Given the description of an element on the screen output the (x, y) to click on. 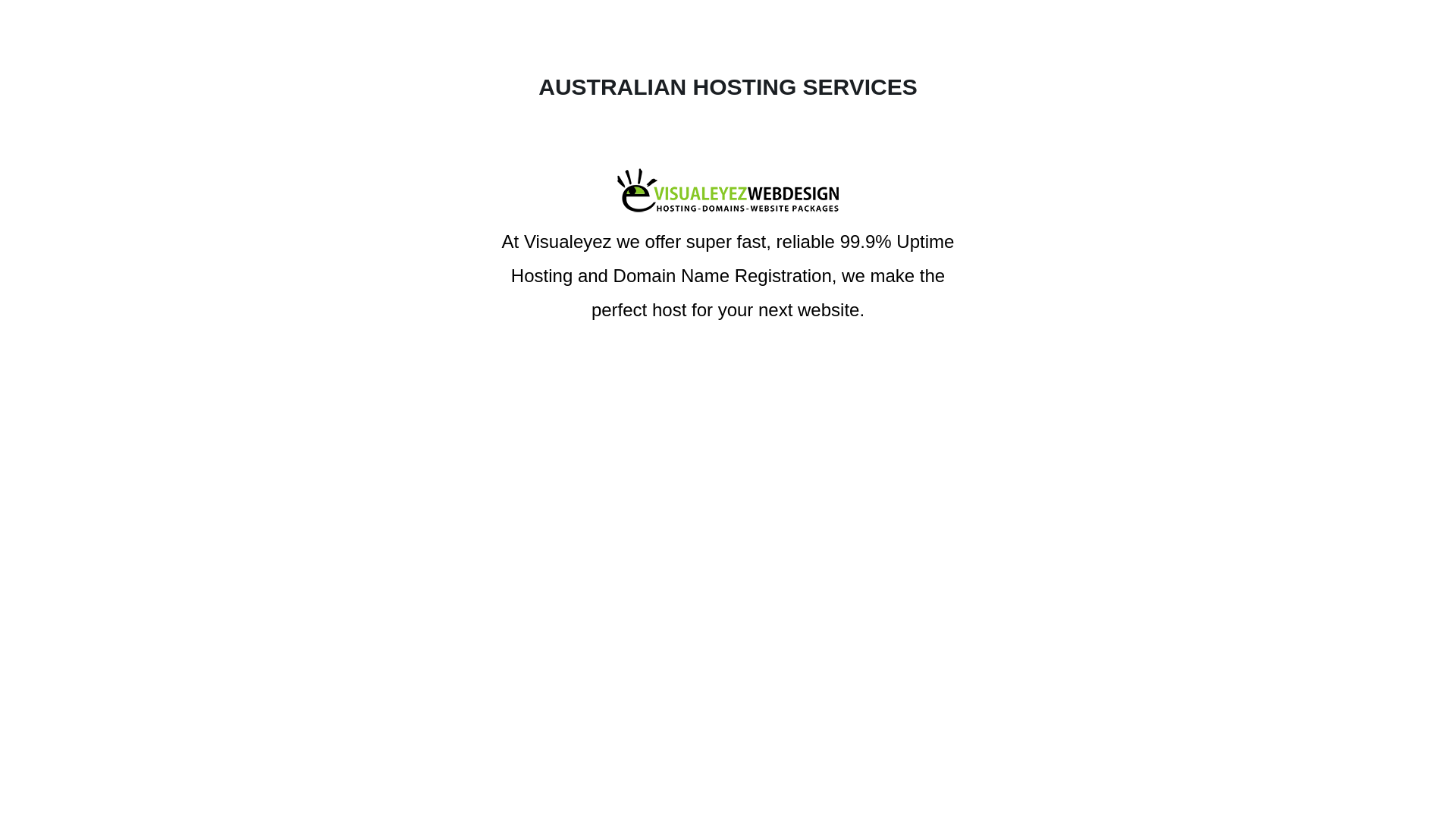
Contact us Element type: text (727, 407)
